Given the description of an element on the screen output the (x, y) to click on. 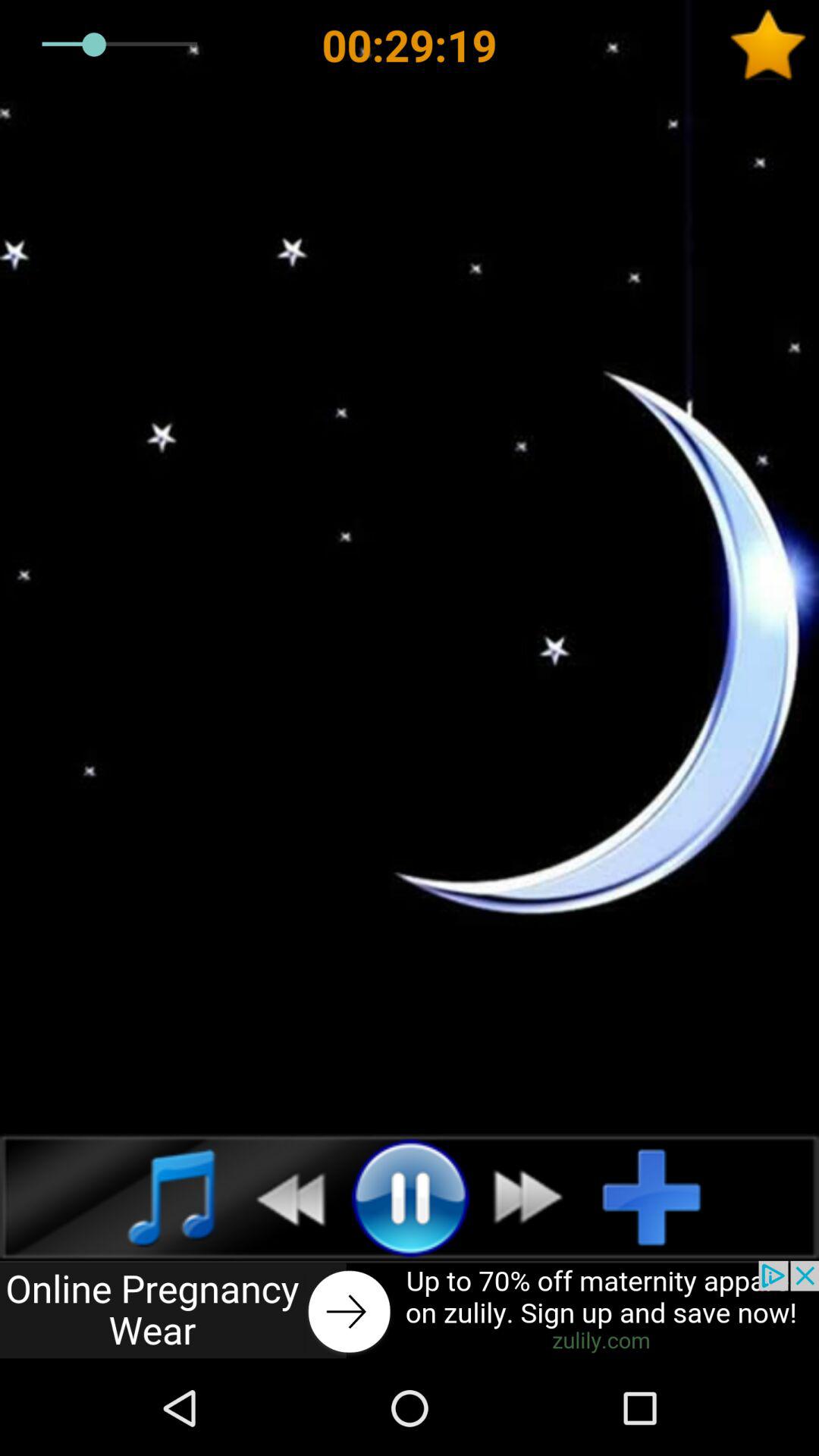
acess music (154, 1196)
